Given the description of an element on the screen output the (x, y) to click on. 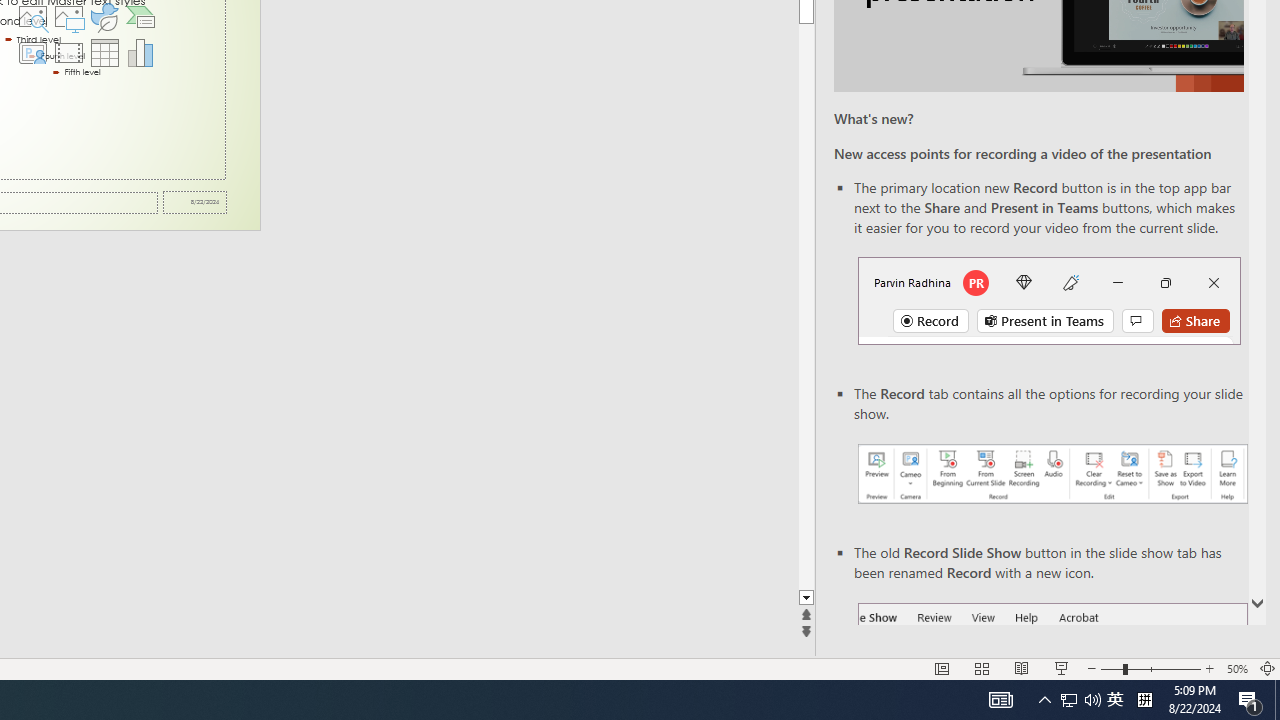
Insert Table (105, 52)
Zoom 50% (1236, 668)
Insert Cameo (32, 52)
Insert an Icon (105, 16)
Insert Chart (141, 52)
Insert Video (68, 52)
